Given the description of an element on the screen output the (x, y) to click on. 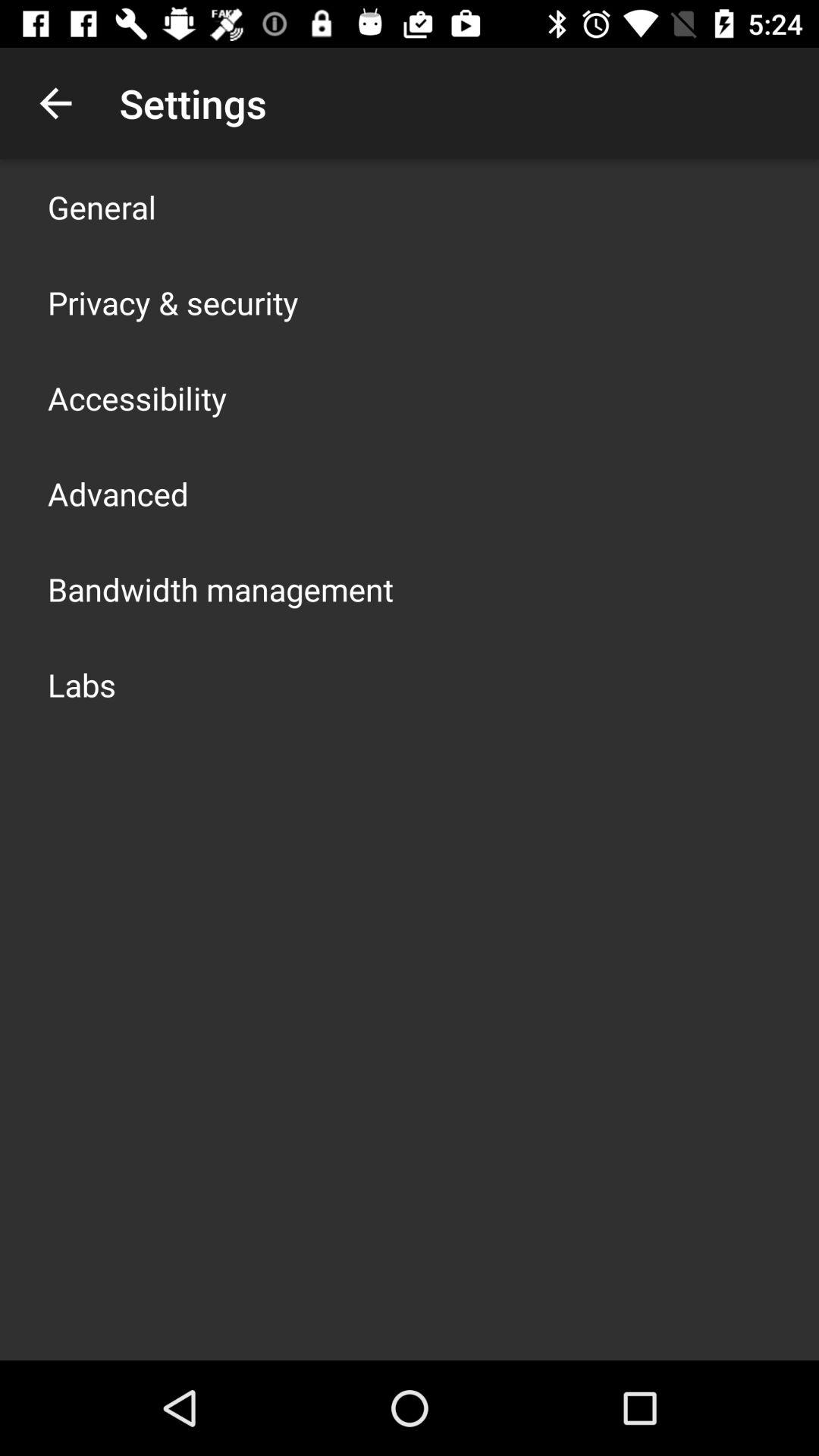
scroll until the accessibility app (136, 397)
